Given the description of an element on the screen output the (x, y) to click on. 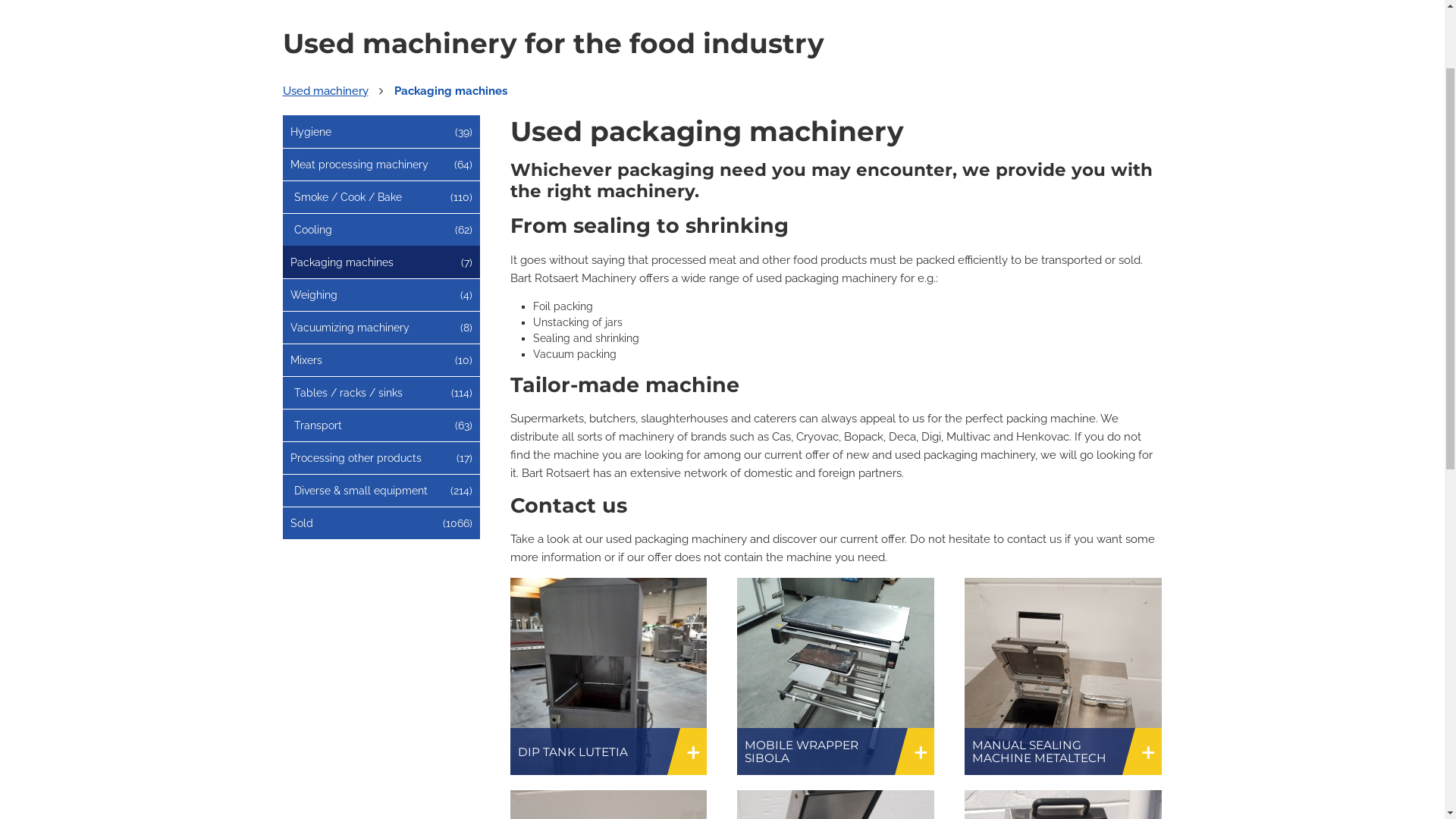
EN Element type: text (1145, 14)
USED MACHINERY Element type: text (894, 74)
FR Element type: text (1115, 14)
Transport
(63) Element type: text (318, 542)
Cooling
(62) Element type: text (313, 347)
NL Element type: text (1085, 14)
Processing other products
(17) Element type: text (354, 575)
Packaging machines
(7) Element type: text (340, 379)
HOME Element type: text (763, 74)
Sold
(1066) Element type: text (300, 640)
Smoke / Cook / Bake
(110) Element type: text (347, 314)
Packaging machines Element type: text (450, 208)
Register Element type: text (819, 15)
Contact Element type: text (1026, 15)
Mixers
(10) Element type: text (305, 477)
About us Element type: text (889, 15)
Auctions Element type: text (959, 15)
Used machinery Element type: text (324, 208)
Meat processing machinery
(64) Element type: text (358, 282)
Tables / racks / sinks
(114) Element type: text (348, 510)
NEW Element type: text (1023, 74)
Vacuumizing machinery
(8) Element type: text (348, 445)
Hygiene
(39) Element type: text (309, 249)
Diverse & small equipment
(214) Element type: text (360, 608)
Login Element type: text (755, 15)
FOR RENT Element type: text (1129, 74)
Weighing
(4) Element type: text (312, 412)
